Given the description of an element on the screen output the (x, y) to click on. 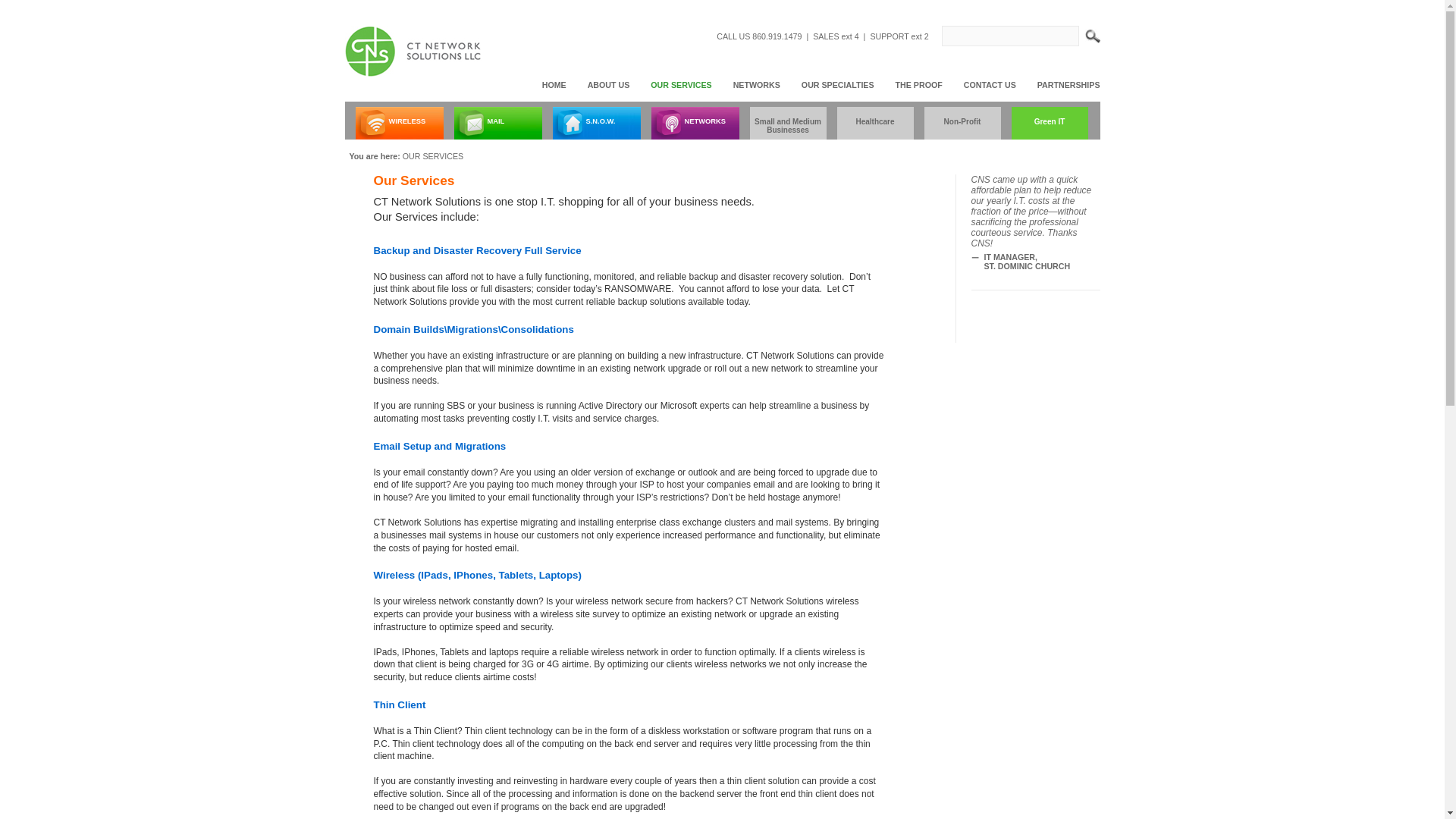
OUR SPECIALTIES (834, 84)
NETWORKS (694, 123)
Small and Medium Businesses (787, 123)
HOME (550, 84)
CT Network Solutions, LLC (411, 50)
PARTNERSHIPS (1064, 84)
WIRELESS (398, 123)
Non-Profit (961, 123)
ABOUT US (604, 84)
MAIL (496, 123)
CONTACT US (986, 84)
NETWORKS (752, 84)
Secure Networking Offline Workspace (595, 123)
computer IT managed services monitoring (411, 50)
THE PROOF (915, 84)
